Given the description of an element on the screen output the (x, y) to click on. 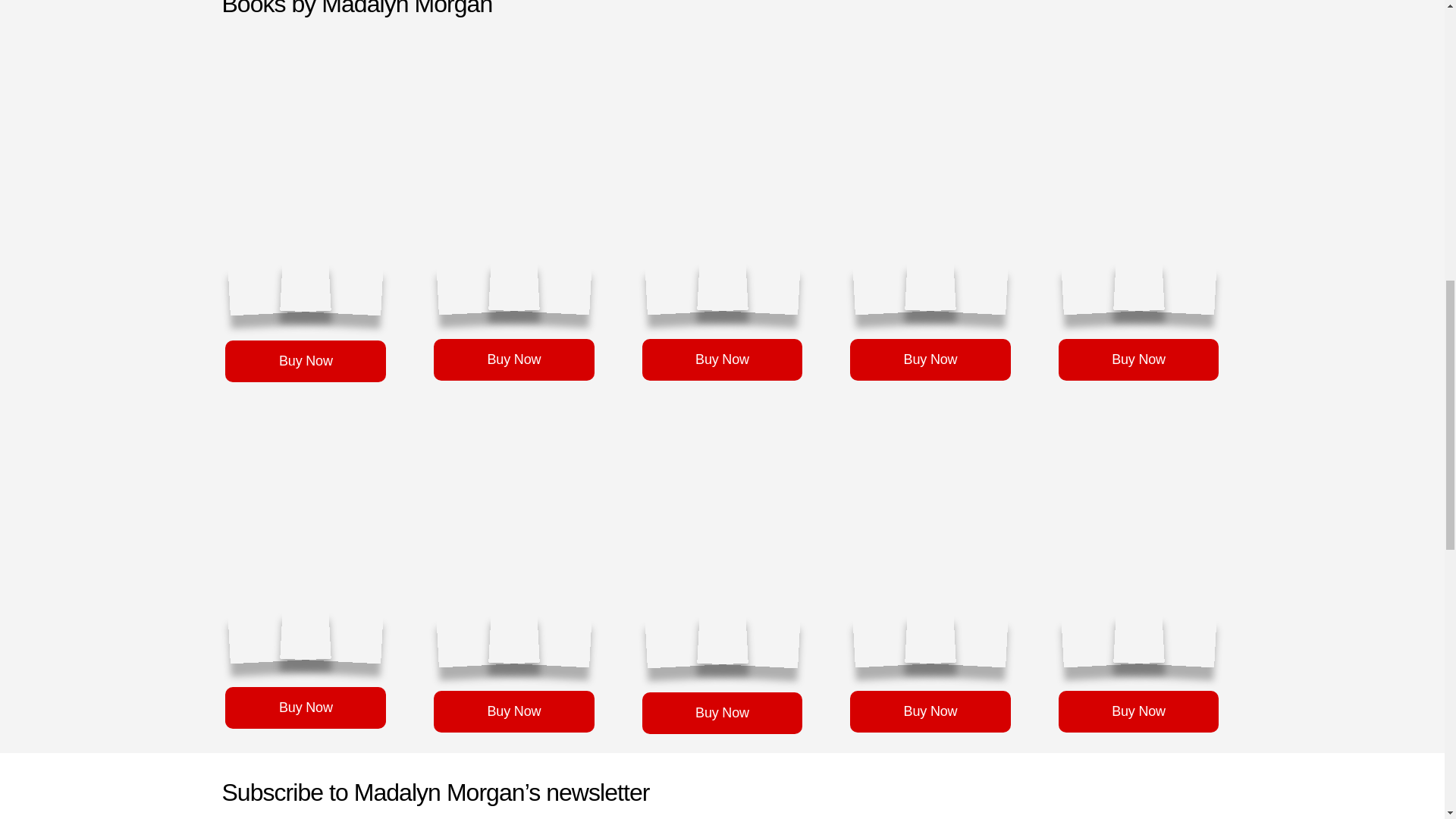
Buy Now (722, 359)
Buy Now (305, 707)
Buy Now (513, 711)
Buy Now (513, 359)
Buy Now (930, 359)
Buy Now (722, 712)
Buy Now (1139, 359)
Buy Now (930, 711)
Buy Now (305, 361)
